Given the description of an element on the screen output the (x, y) to click on. 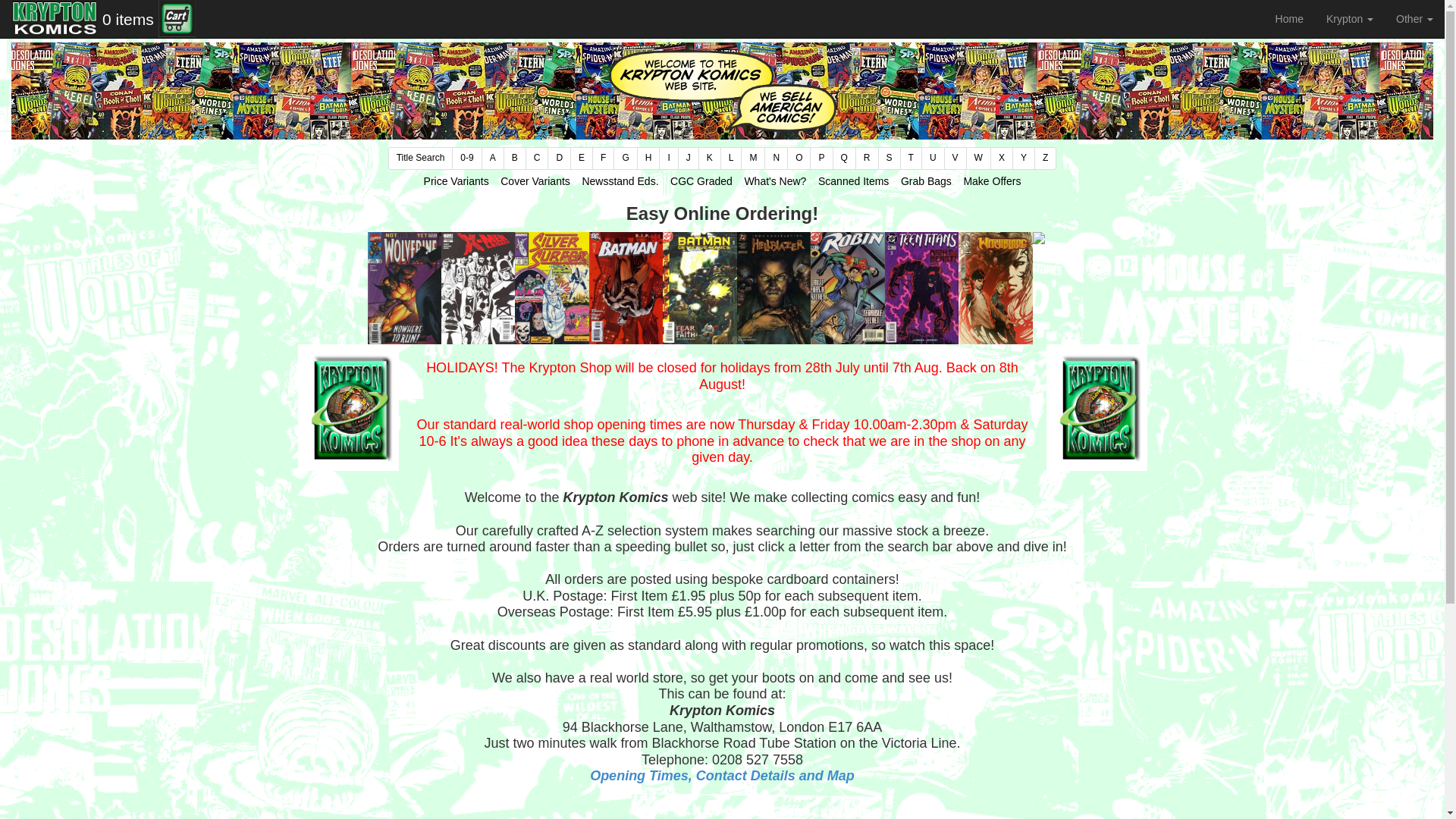
0 items (127, 20)
M (753, 157)
J (688, 157)
0-9 (466, 157)
G (624, 157)
Title Search (420, 157)
D (558, 157)
P (820, 157)
A (492, 157)
L (731, 157)
